Given the description of an element on the screen output the (x, y) to click on. 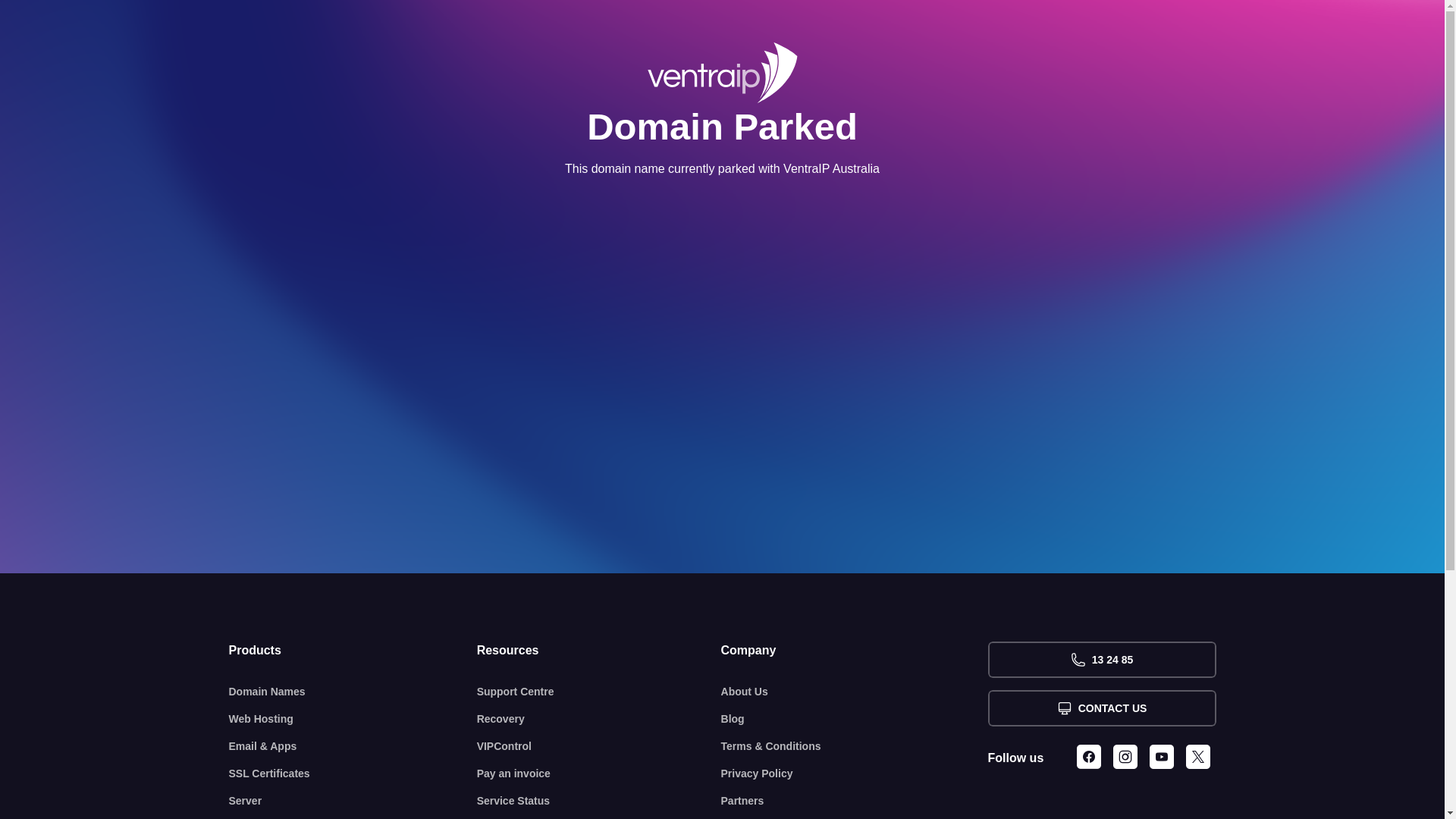
Terms & Conditions Element type: text (854, 745)
Pay an invoice Element type: text (598, 773)
Domain Names Element type: text (352, 691)
13 24 85 Element type: text (1101, 659)
Support Centre Element type: text (598, 691)
VIPControl Element type: text (598, 745)
Server Element type: text (352, 800)
About Us Element type: text (854, 691)
Email & Apps Element type: text (352, 745)
CONTACT US Element type: text (1101, 708)
SSL Certificates Element type: text (352, 773)
Blog Element type: text (854, 718)
Web Hosting Element type: text (352, 718)
Partners Element type: text (854, 800)
Service Status Element type: text (598, 800)
Recovery Element type: text (598, 718)
Privacy Policy Element type: text (854, 773)
